Given the description of an element on the screen output the (x, y) to click on. 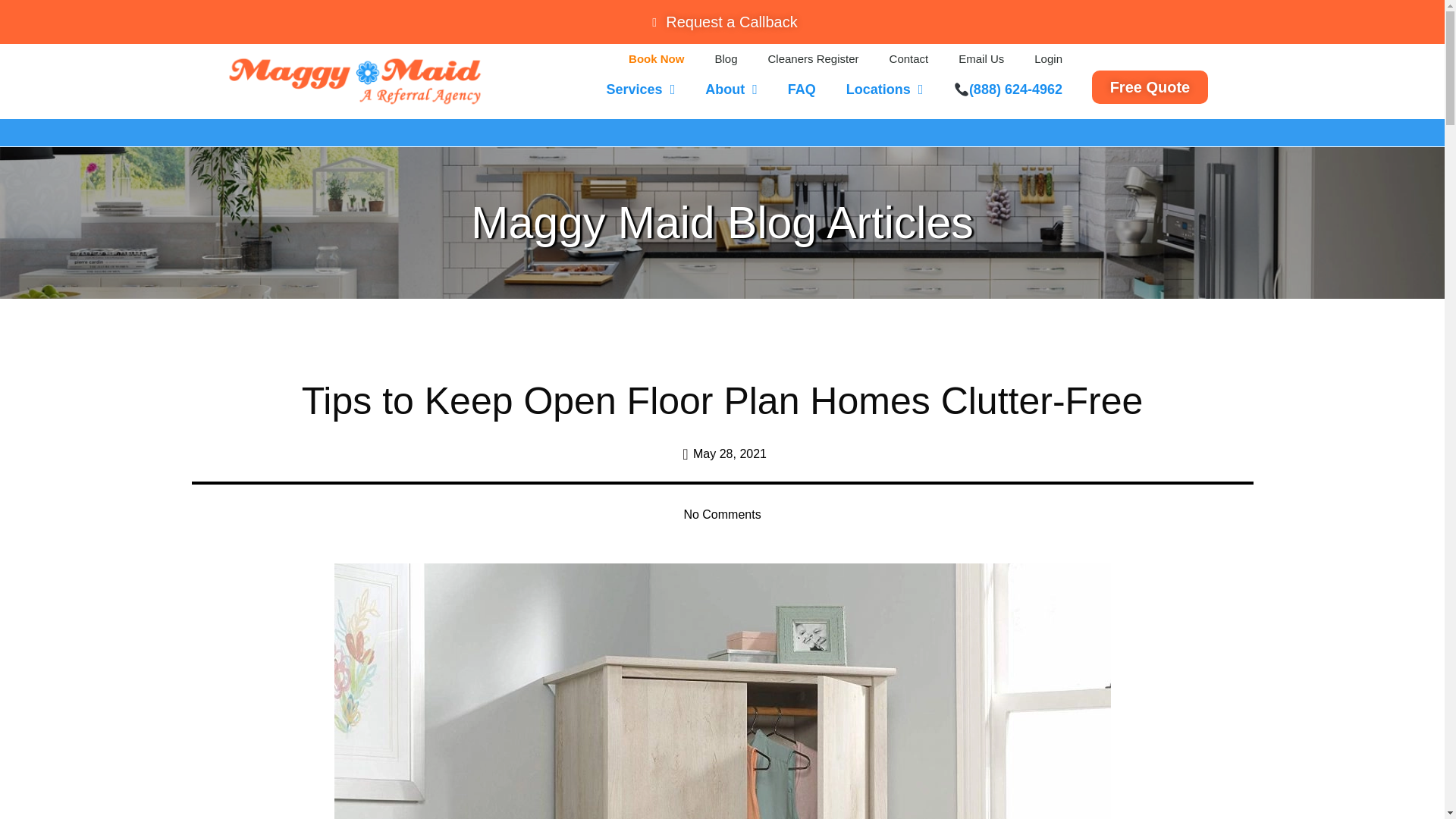
Request a Callback (722, 22)
